Given the description of an element on the screen output the (x, y) to click on. 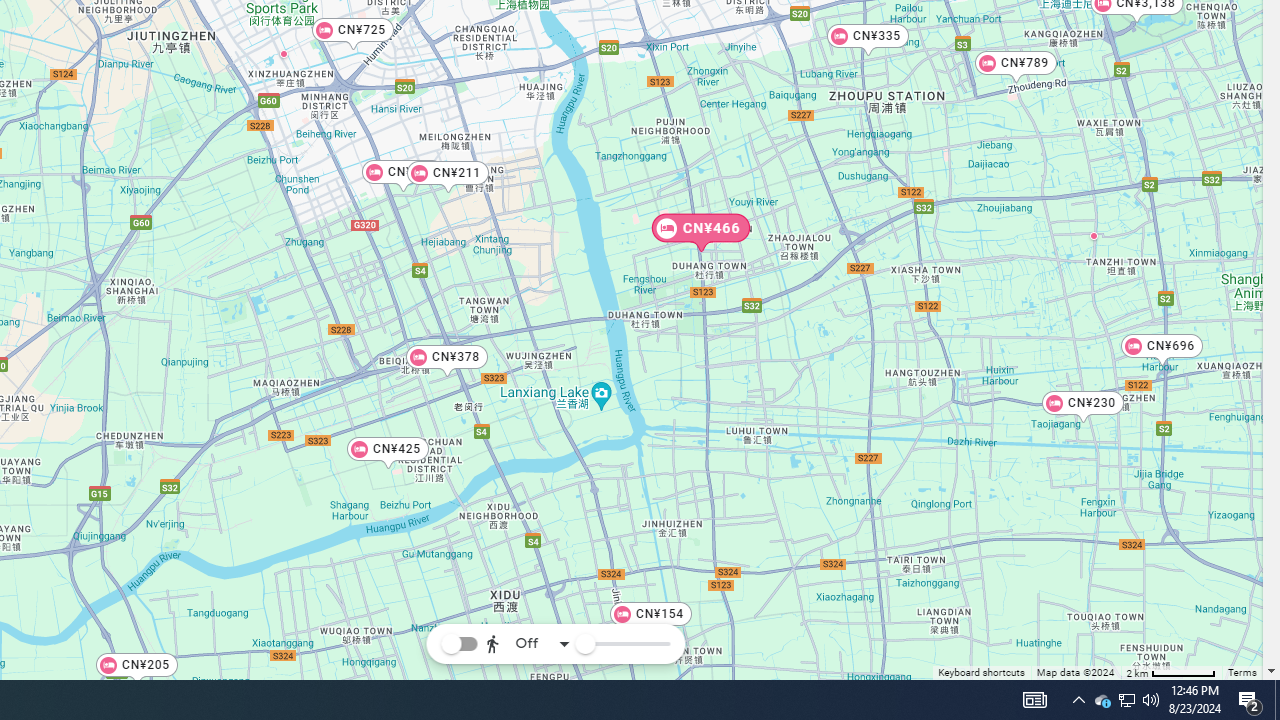
Venus International Hotel Shanghai South Shenjiang Road (1093, 235)
Keyboard shortcuts (981, 673)
Reachability slider (584, 644)
Hanting Premium Hotel Shanghai Xinzhuang Business (283, 53)
Walk (523, 544)
